Given the description of an element on the screen output the (x, y) to click on. 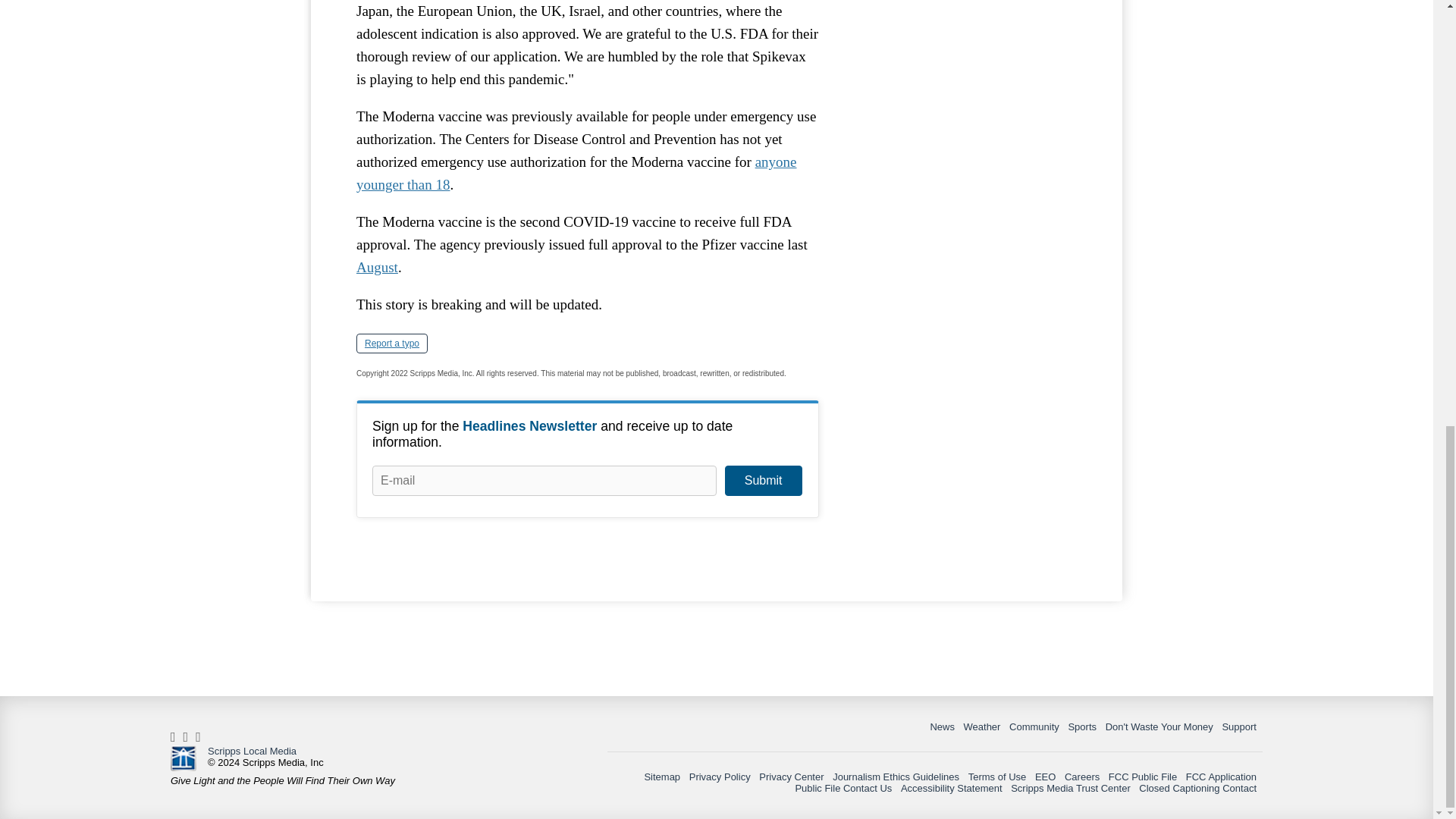
Submit (763, 481)
